Given the description of an element on the screen output the (x, y) to click on. 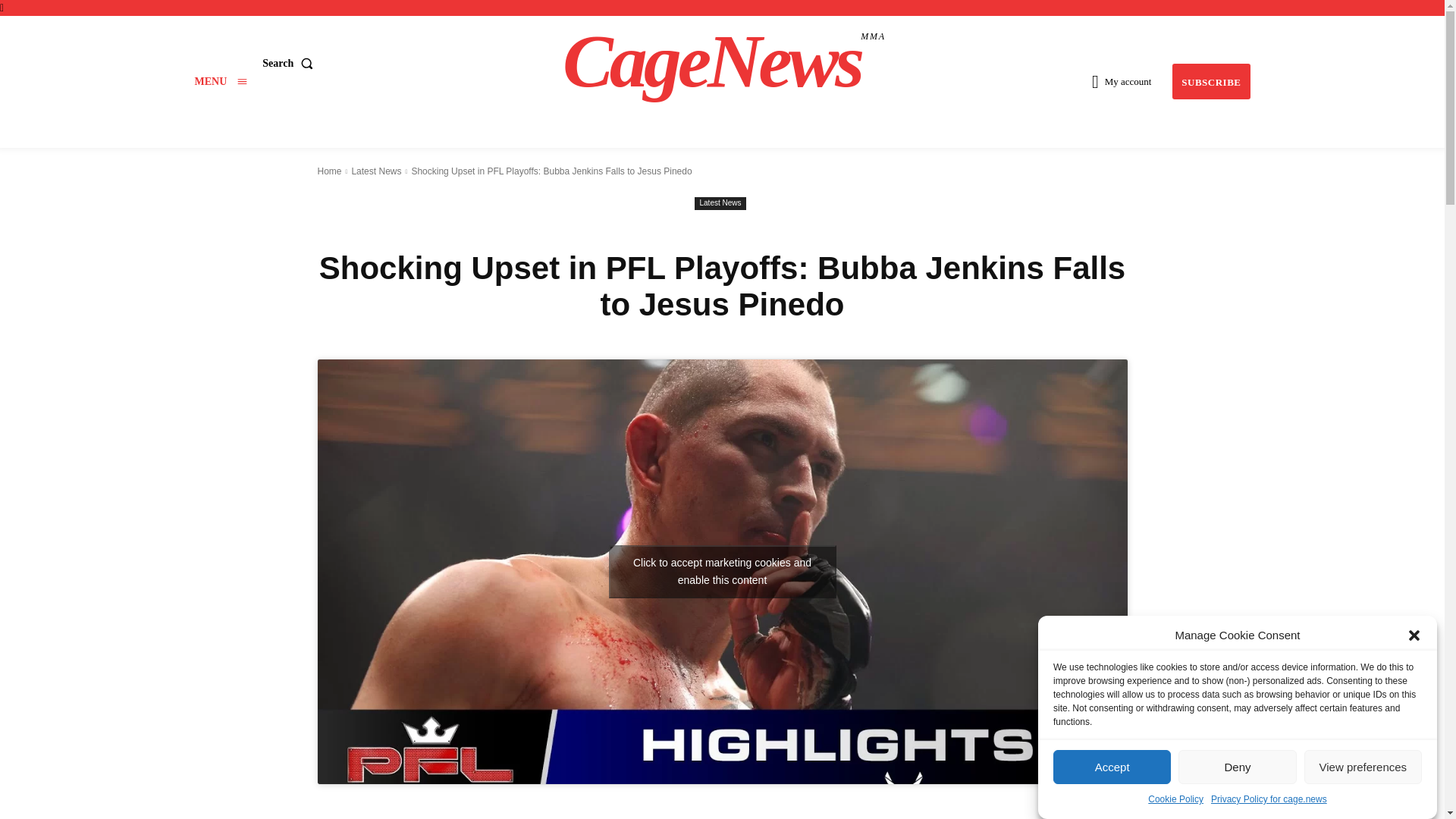
SUBSCRIBE (1210, 81)
Search (290, 62)
Cookie Policy (1176, 811)
View preferences (724, 61)
MENU (1363, 815)
Privacy Policy for cage.news (220, 81)
Discover the world of fighting! (1268, 804)
Menu (724, 61)
Subscribe (220, 81)
